Given the description of an element on the screen output the (x, y) to click on. 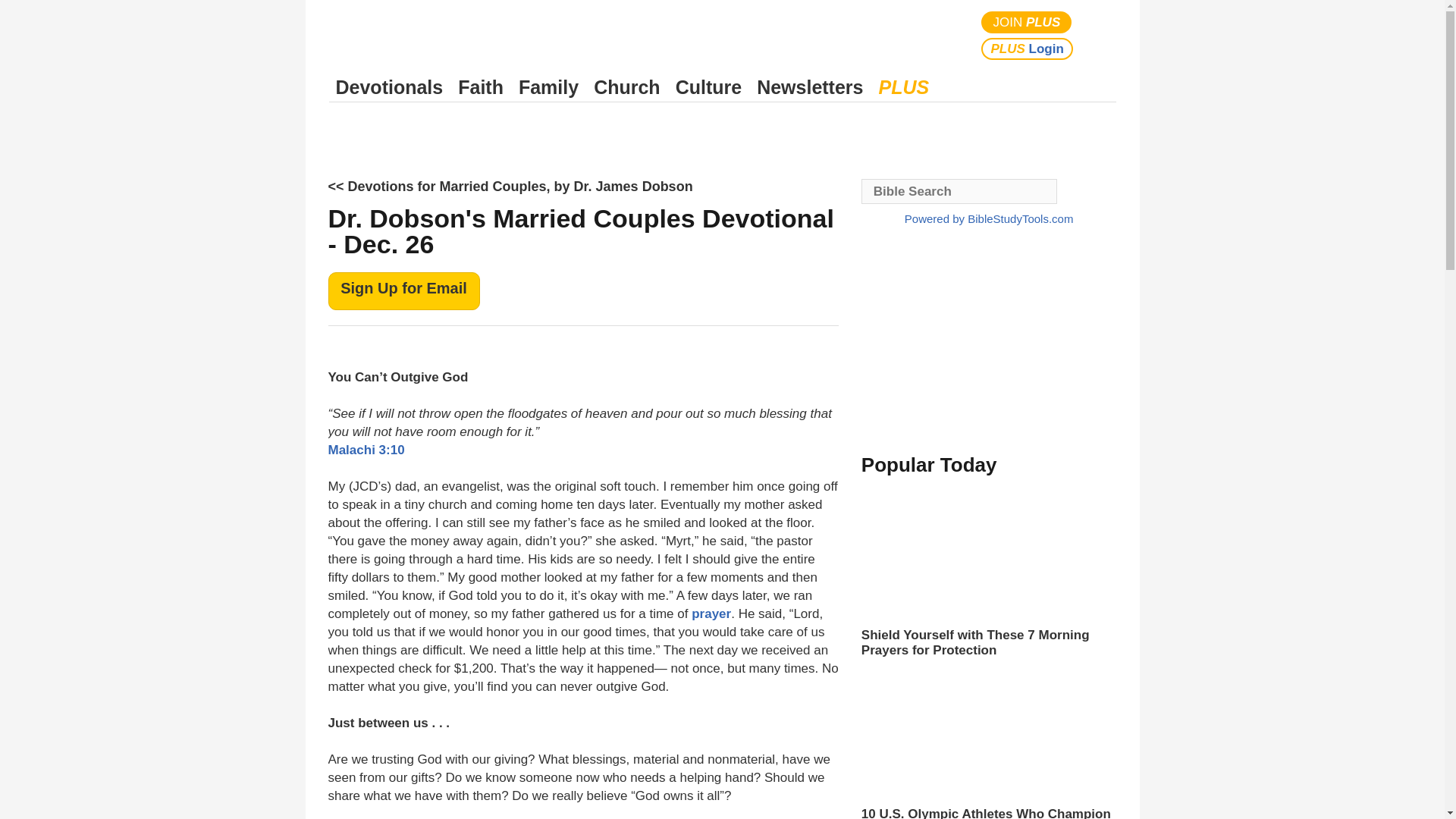
Plus Login (1026, 48)
Devotionals (389, 87)
Faith (481, 87)
Search (1101, 34)
Join Plus (1026, 22)
JOIN PLUS (1026, 22)
Family (548, 87)
PLUS Login (1026, 48)
